Given the description of an element on the screen output the (x, y) to click on. 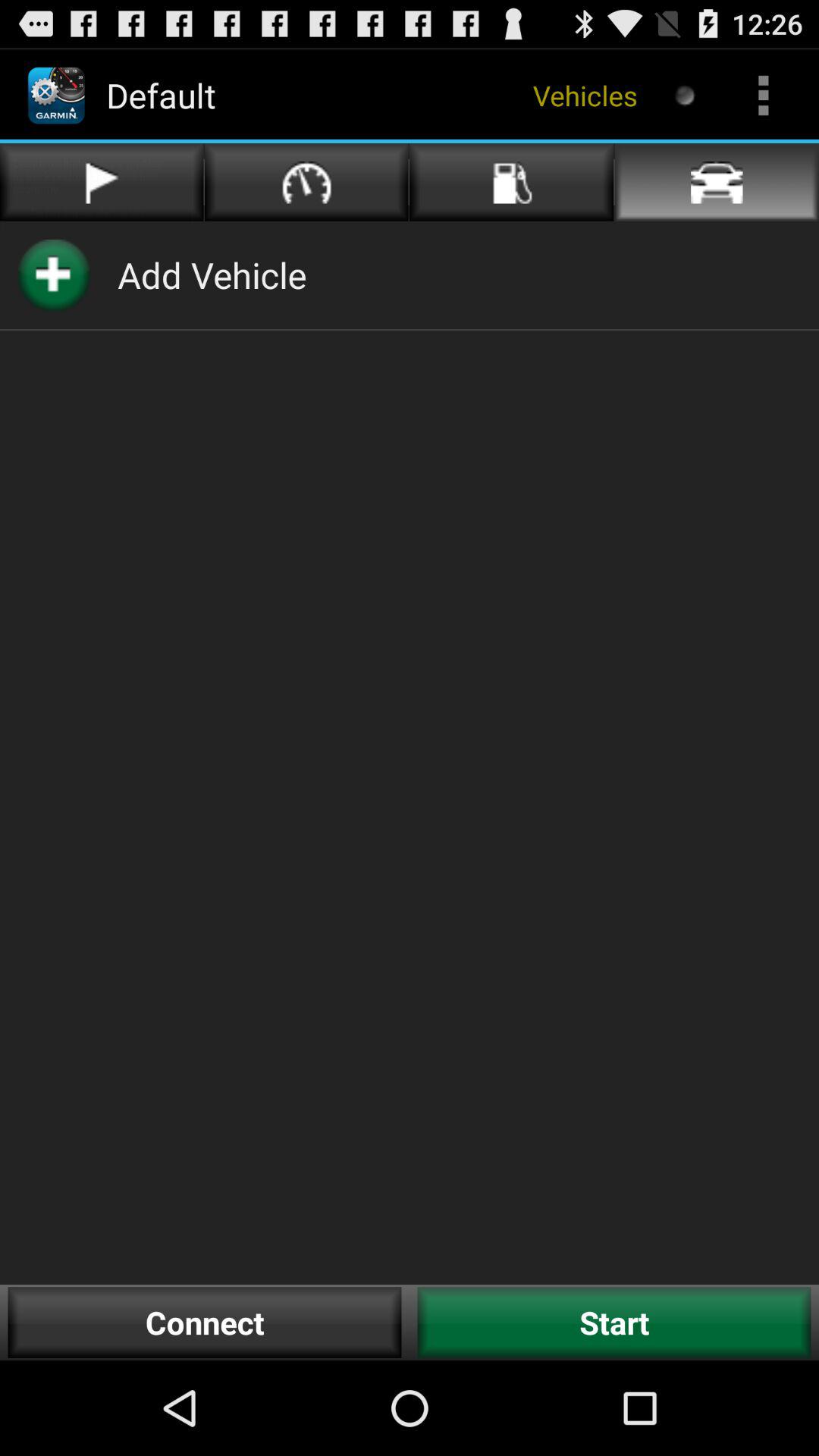
turn on button to the right of the connect button (614, 1322)
